Given the description of an element on the screen output the (x, y) to click on. 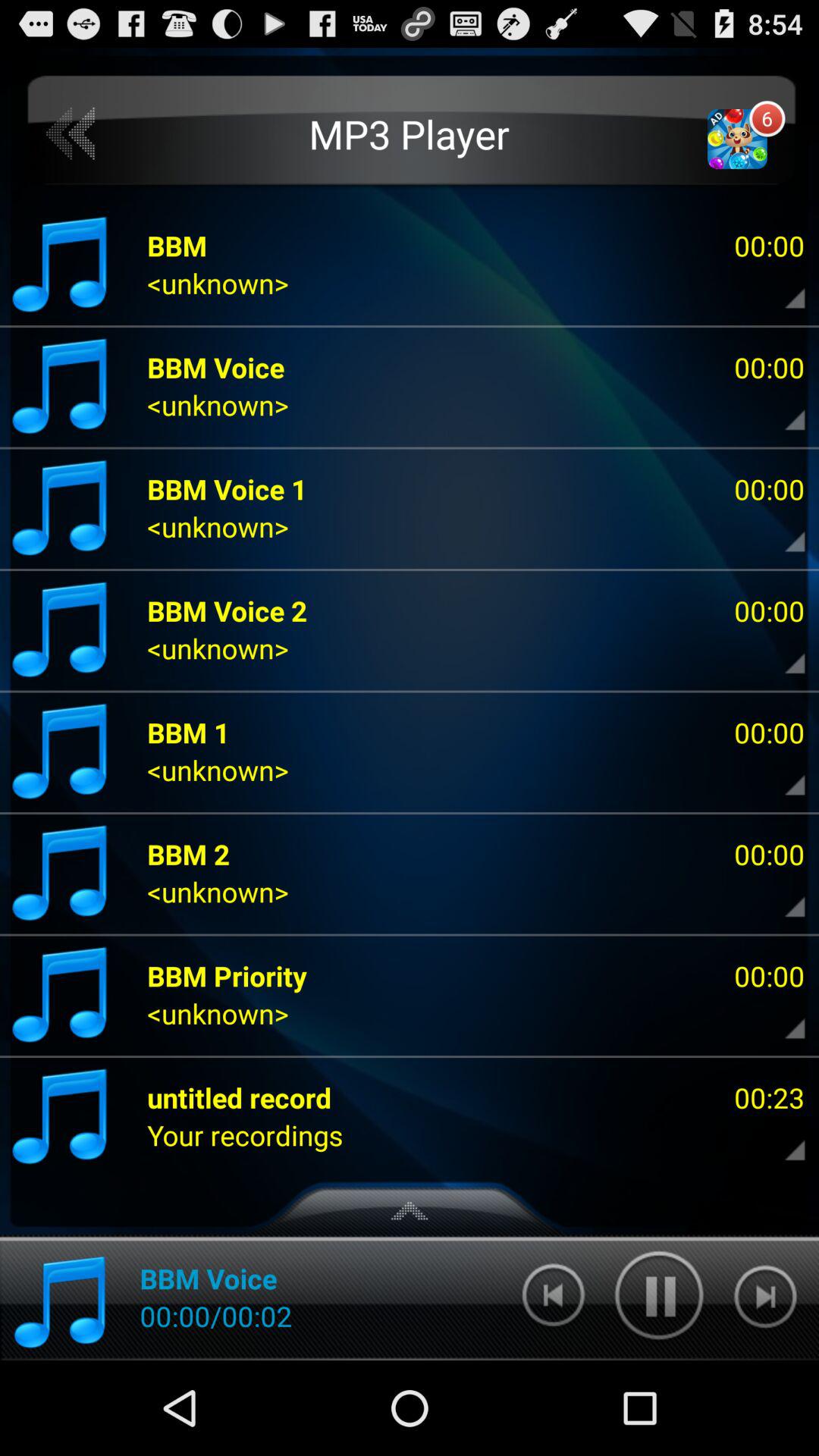
turn off app below <unknown> (227, 975)
